Given the description of an element on the screen output the (x, y) to click on. 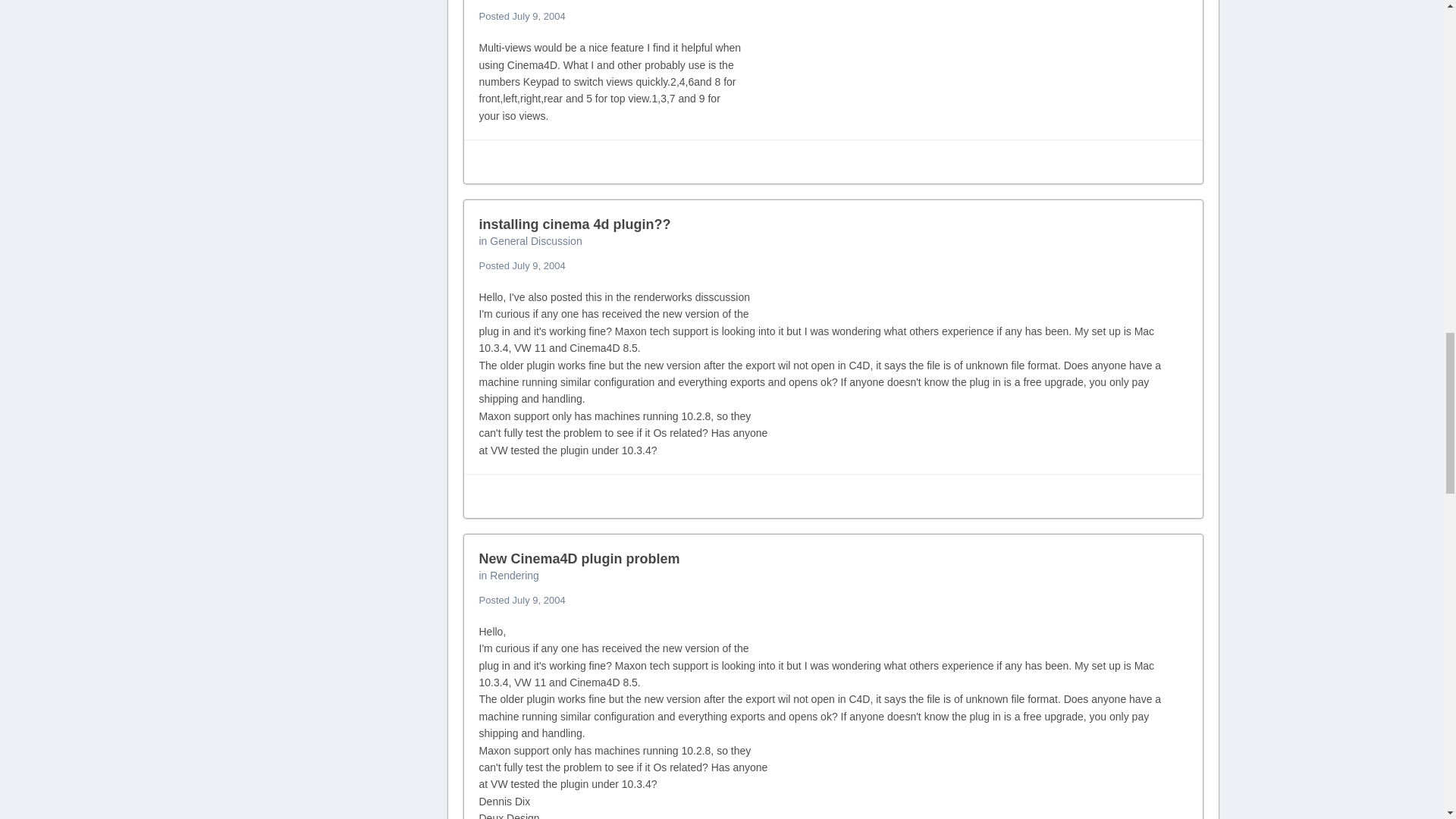
View the topic New Cinema4D plugin problem (579, 558)
View the topic installing cinema 4d plugin?? (575, 224)
